Given the description of an element on the screen output the (x, y) to click on. 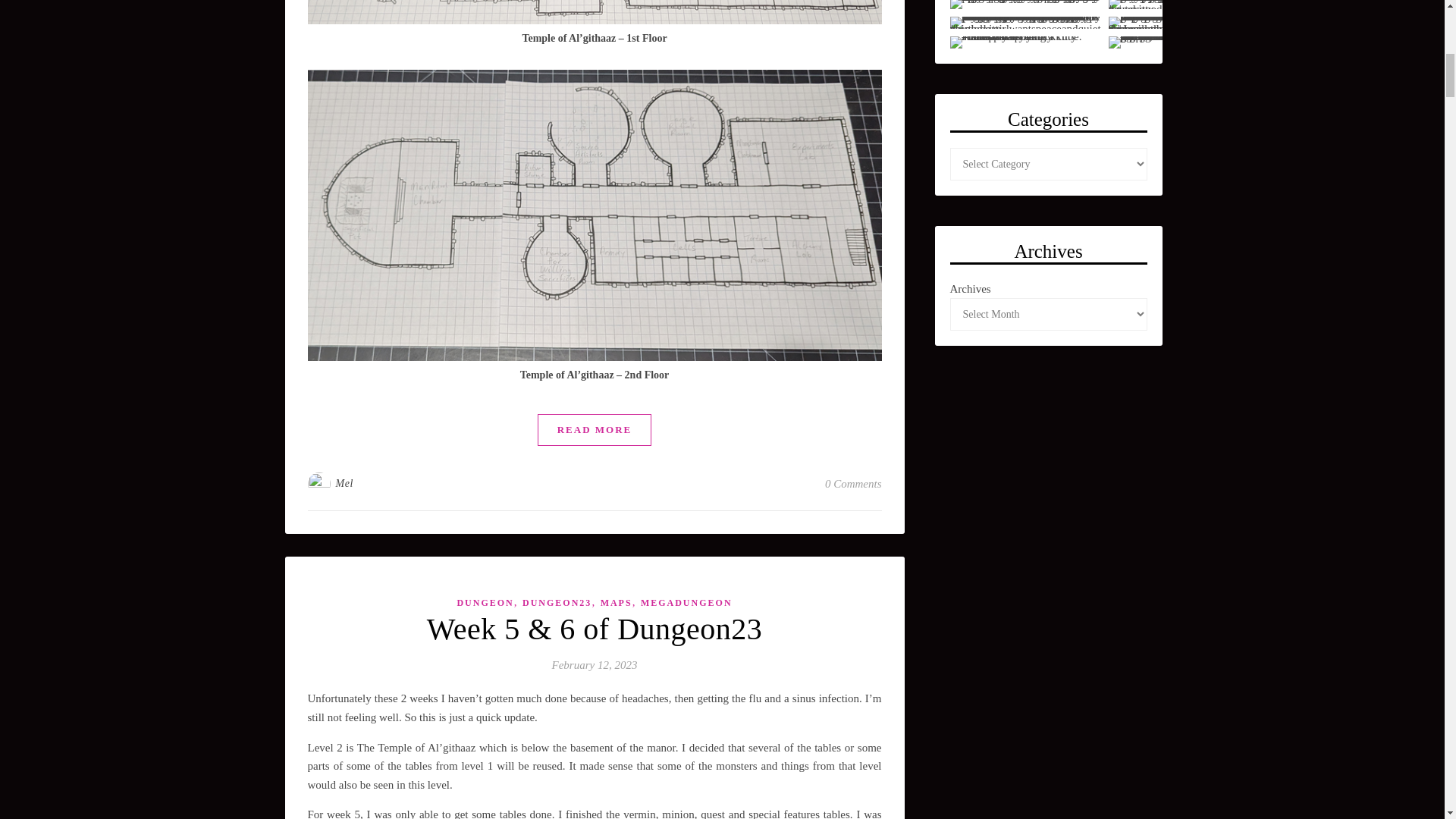
DUNGEON23 (556, 602)
0 Comments (853, 483)
MAPS (615, 602)
DUNGEON (485, 602)
READ MORE (594, 429)
MEGADUNGEON (686, 602)
